Given the description of an element on the screen output the (x, y) to click on. 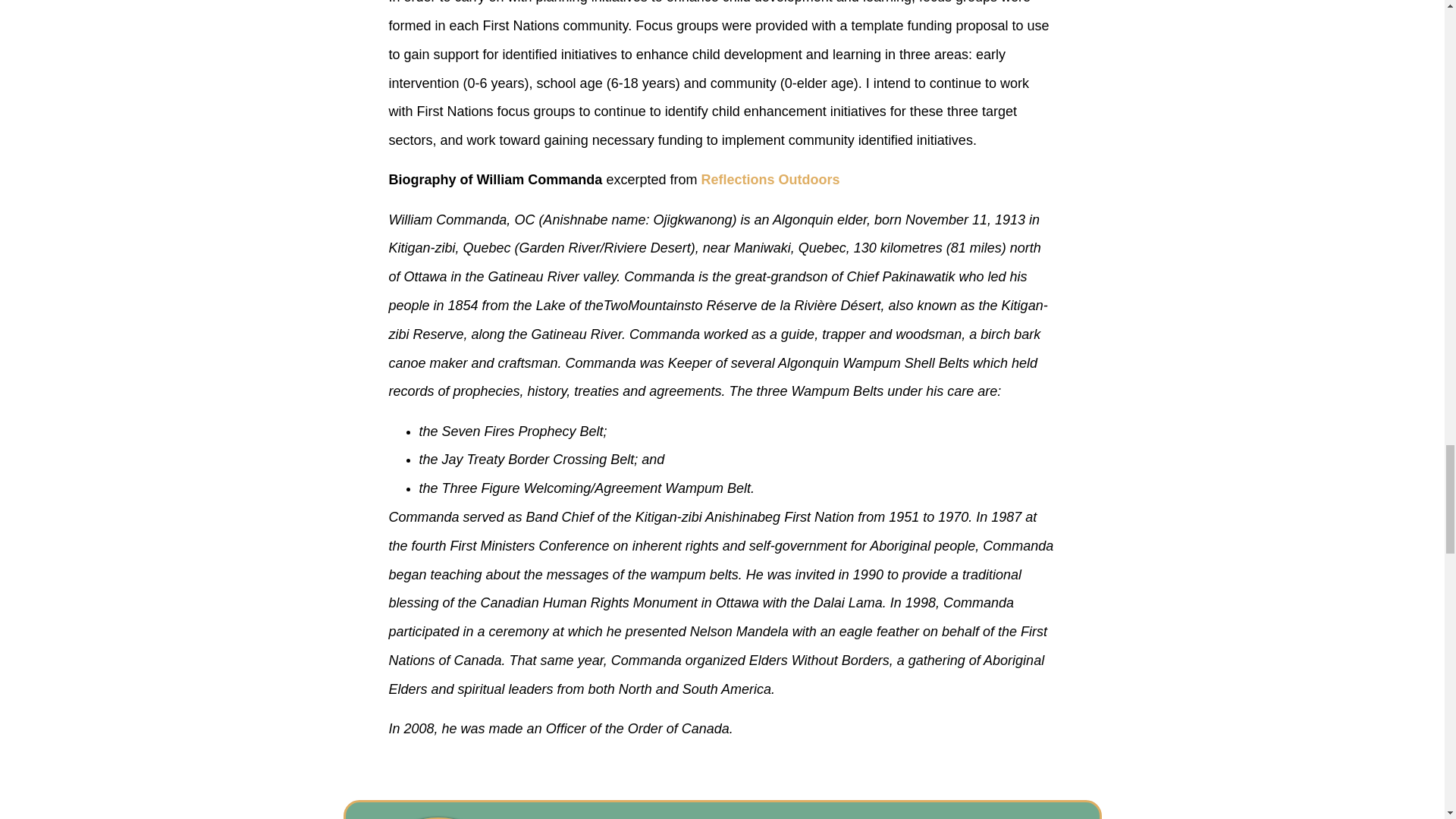
Reflections Outdoors (770, 179)
